Given the description of an element on the screen output the (x, y) to click on. 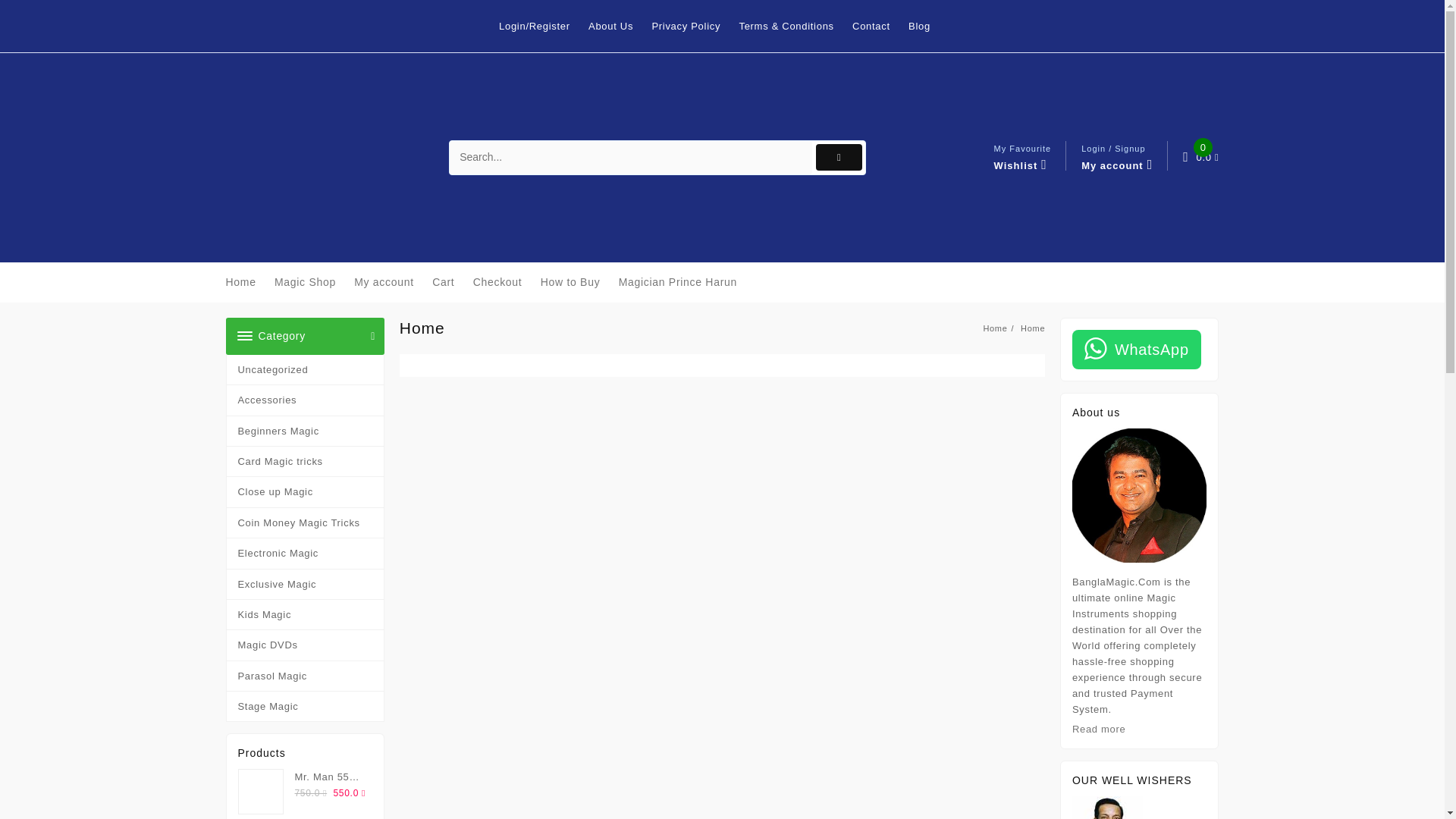
Beginners Magic (1022, 157)
Uncategorized (304, 431)
Cart (304, 369)
About Us (450, 282)
Home (617, 26)
Submit (247, 282)
Contact (838, 157)
Search (878, 26)
Privacy Policy (630, 157)
